Given the description of an element on the screen output the (x, y) to click on. 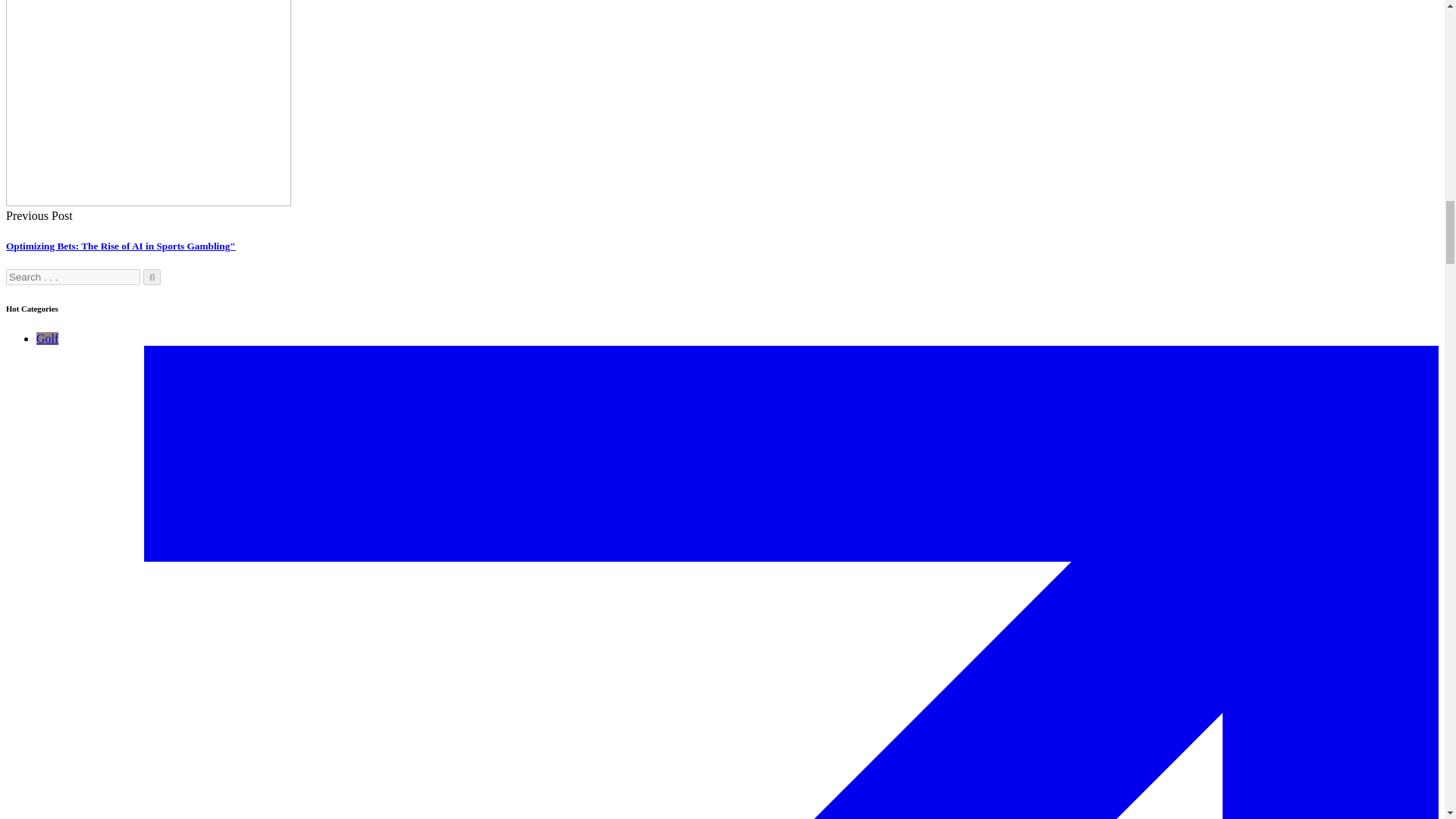
Optimizing Bets: The Rise of AI in Sports Gambling" (120, 245)
